Given the description of an element on the screen output the (x, y) to click on. 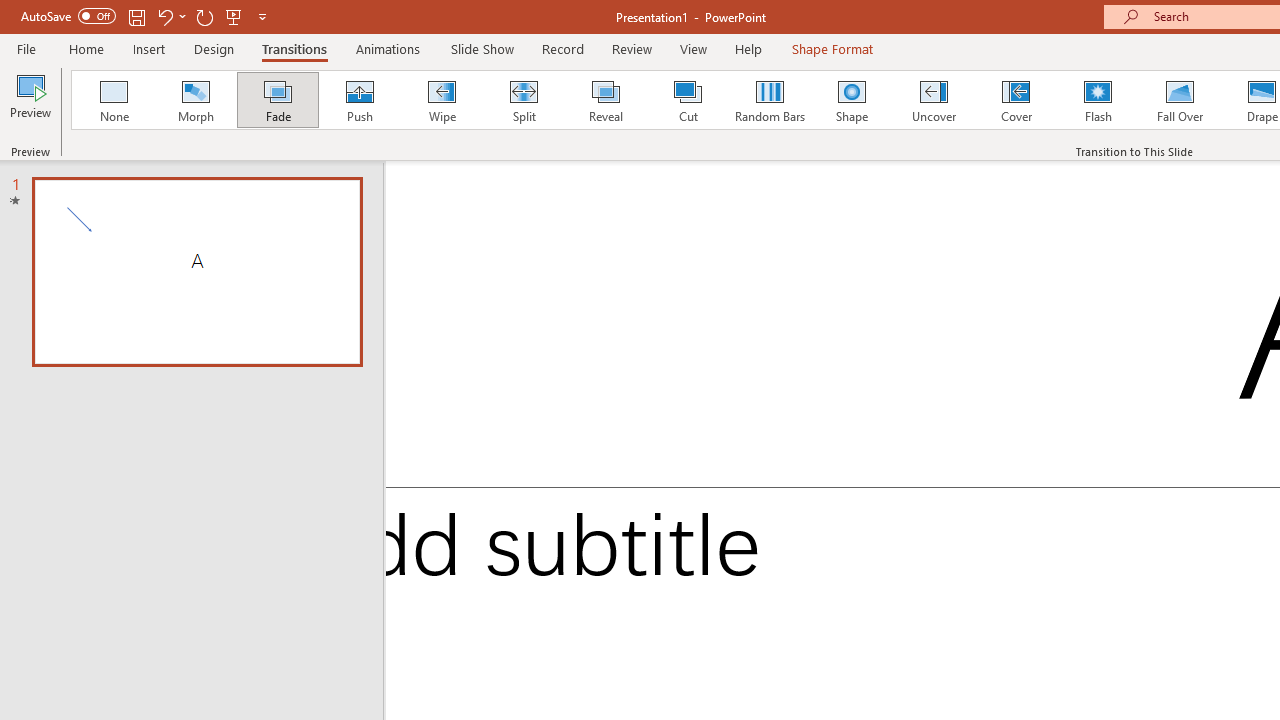
None (113, 100)
Flash (1098, 100)
Cover (1016, 100)
